Given the description of an element on the screen output the (x, y) to click on. 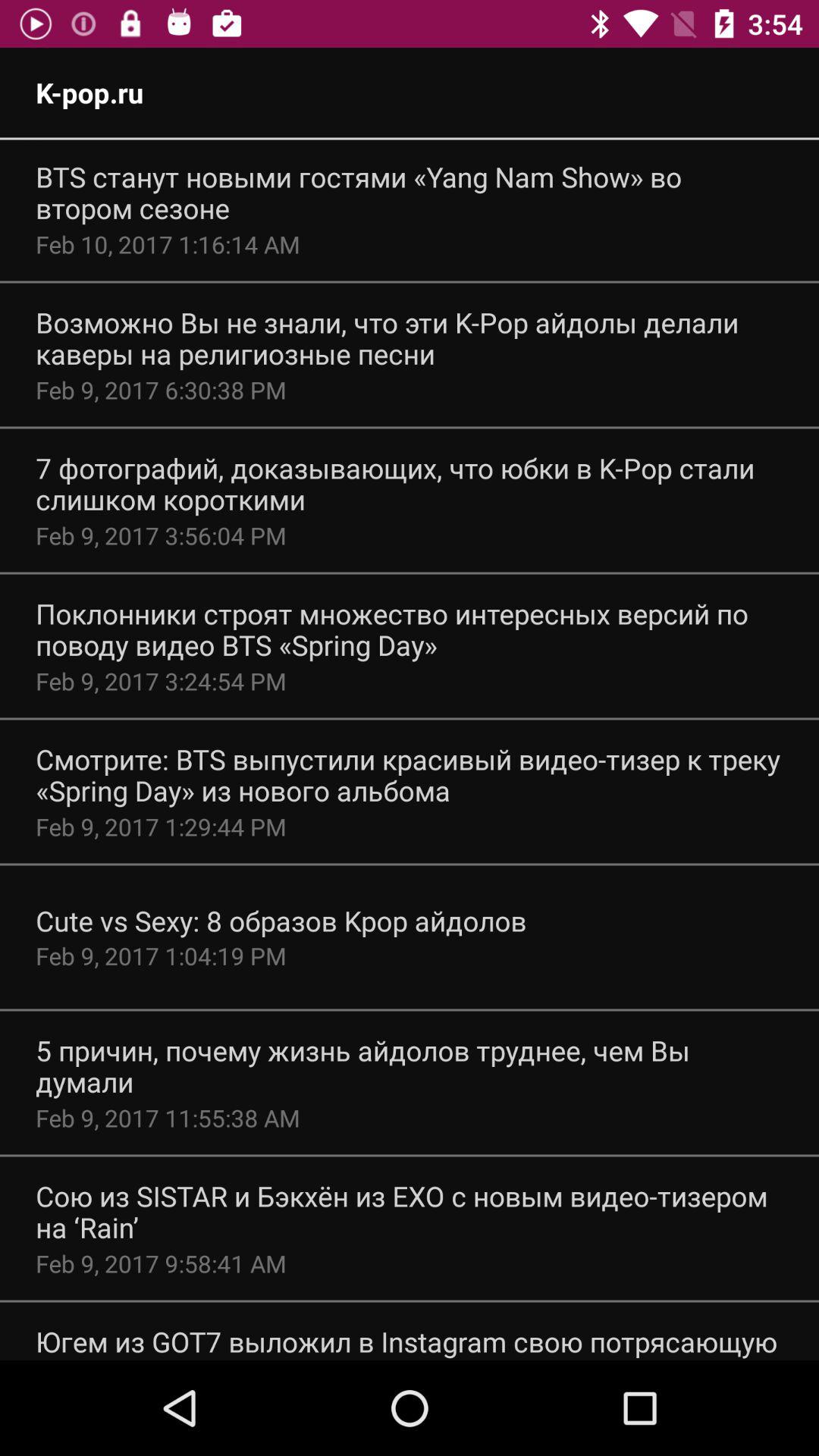
click item below the feb 9 2017 (280, 920)
